Given the description of an element on the screen output the (x, y) to click on. 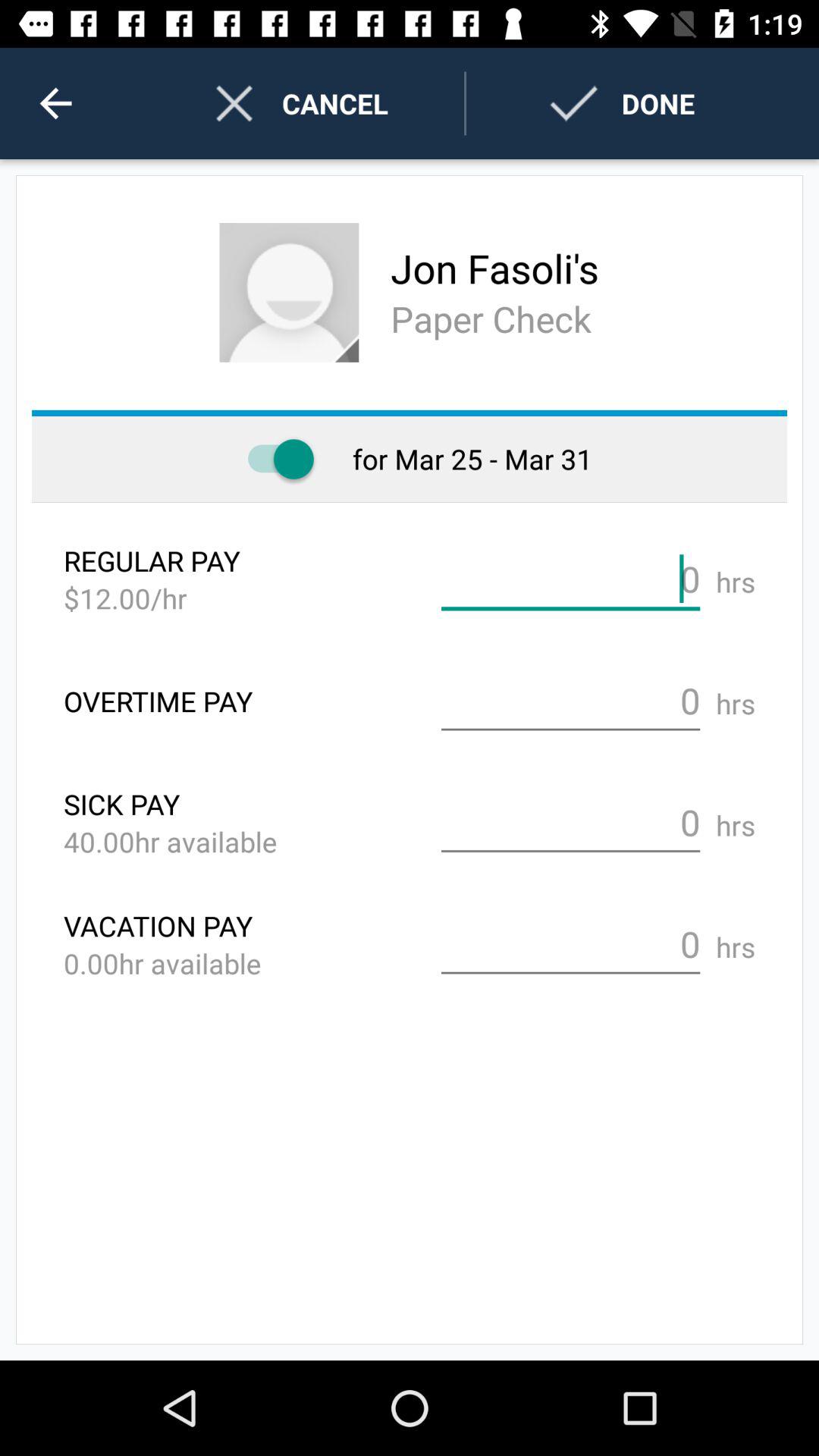
enter overtime (570, 701)
